Given the description of an element on the screen output the (x, y) to click on. 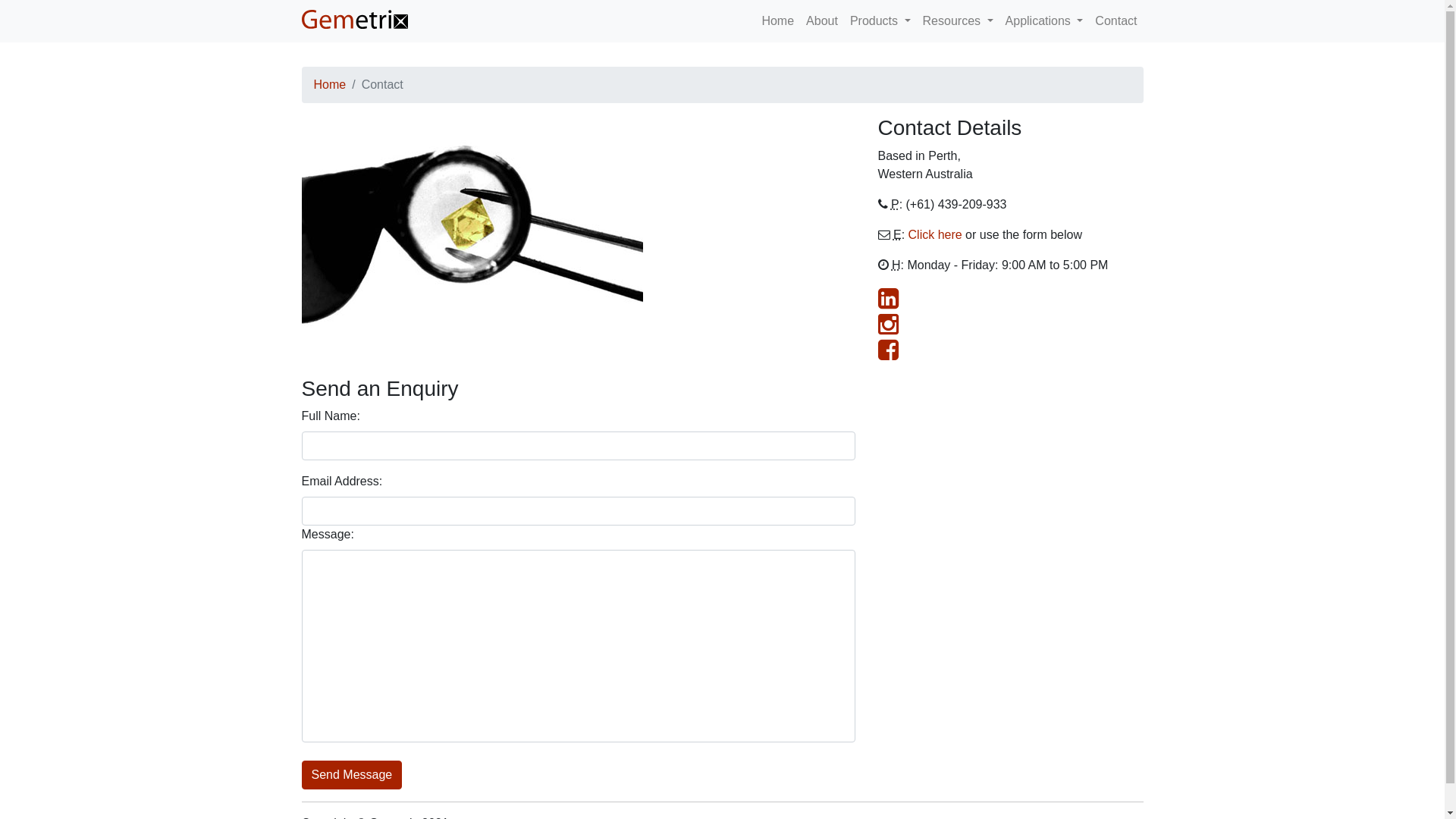
About Element type: text (822, 21)
Home Element type: text (777, 21)
Send Message Element type: text (351, 774)
Contact Element type: text (1115, 21)
Applications Element type: text (1044, 21)
Home Element type: text (329, 84)
Products Element type: text (880, 21)
Resources Element type: text (957, 21)
Click here Element type: text (935, 234)
